Given the description of an element on the screen output the (x, y) to click on. 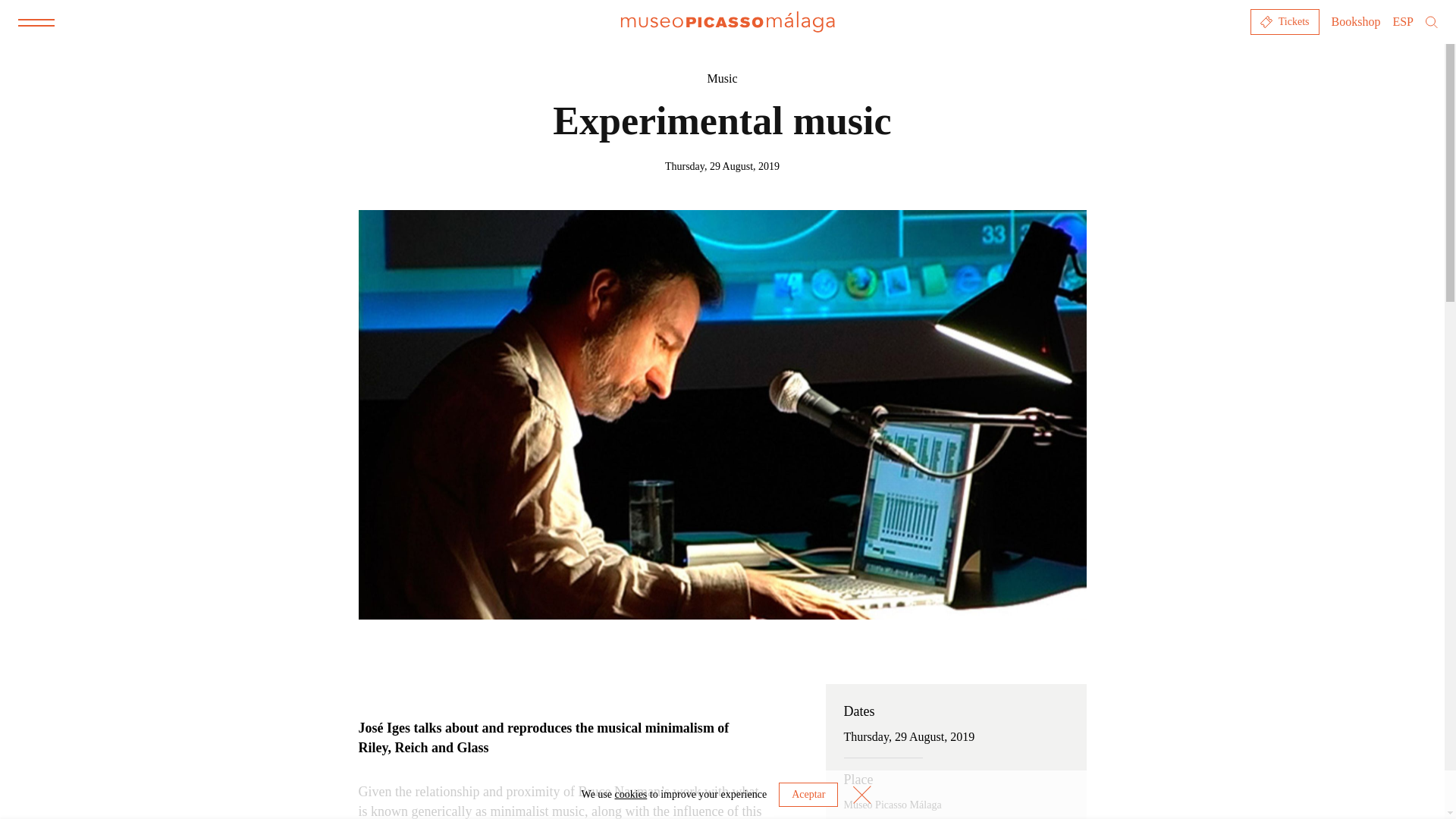
Bookshop (1356, 21)
Toggle (36, 22)
Tickets (1284, 22)
ESP (1402, 21)
